Given the description of an element on the screen output the (x, y) to click on. 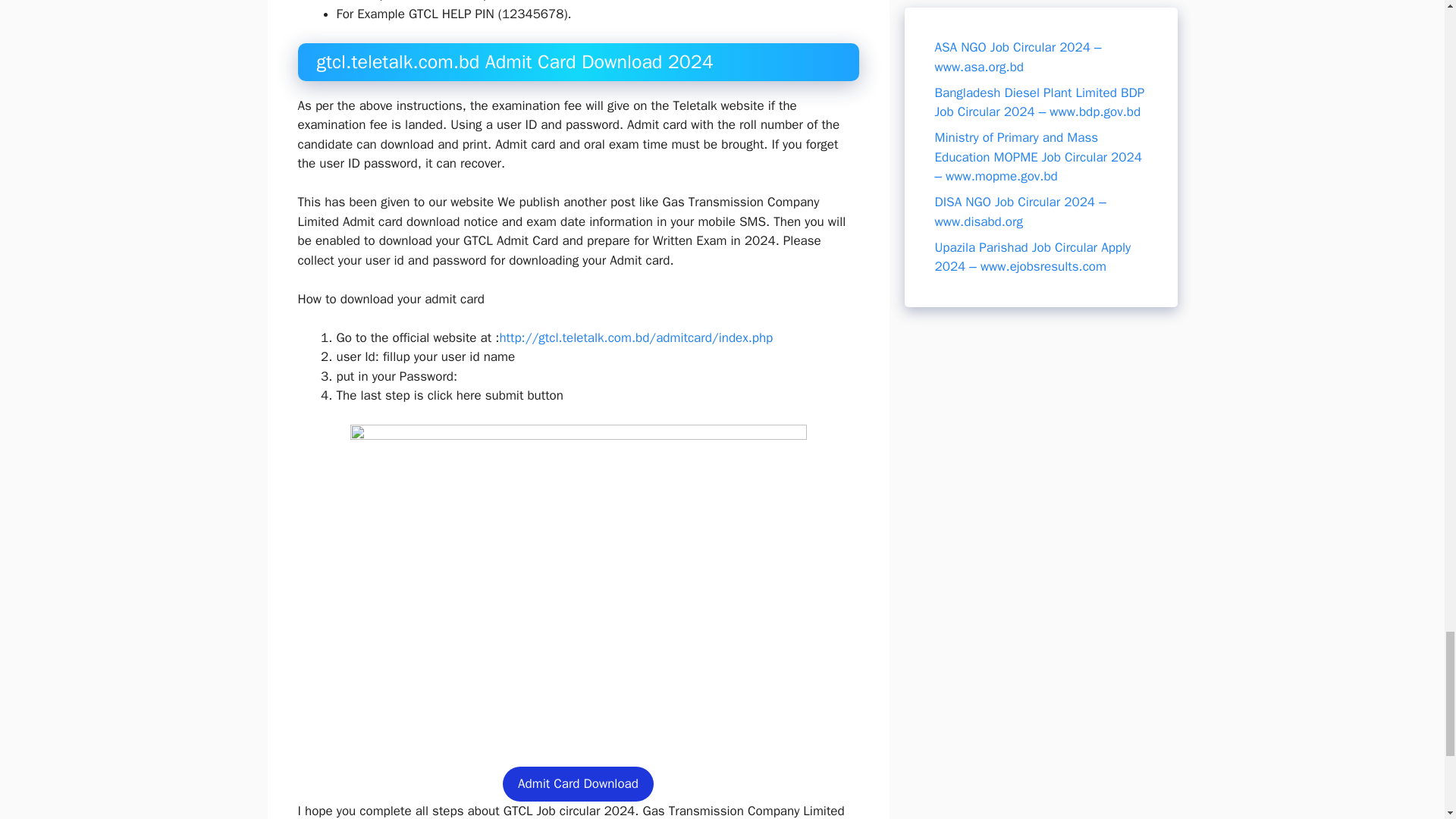
Admit Card Download (577, 783)
